Given the description of an element on the screen output the (x, y) to click on. 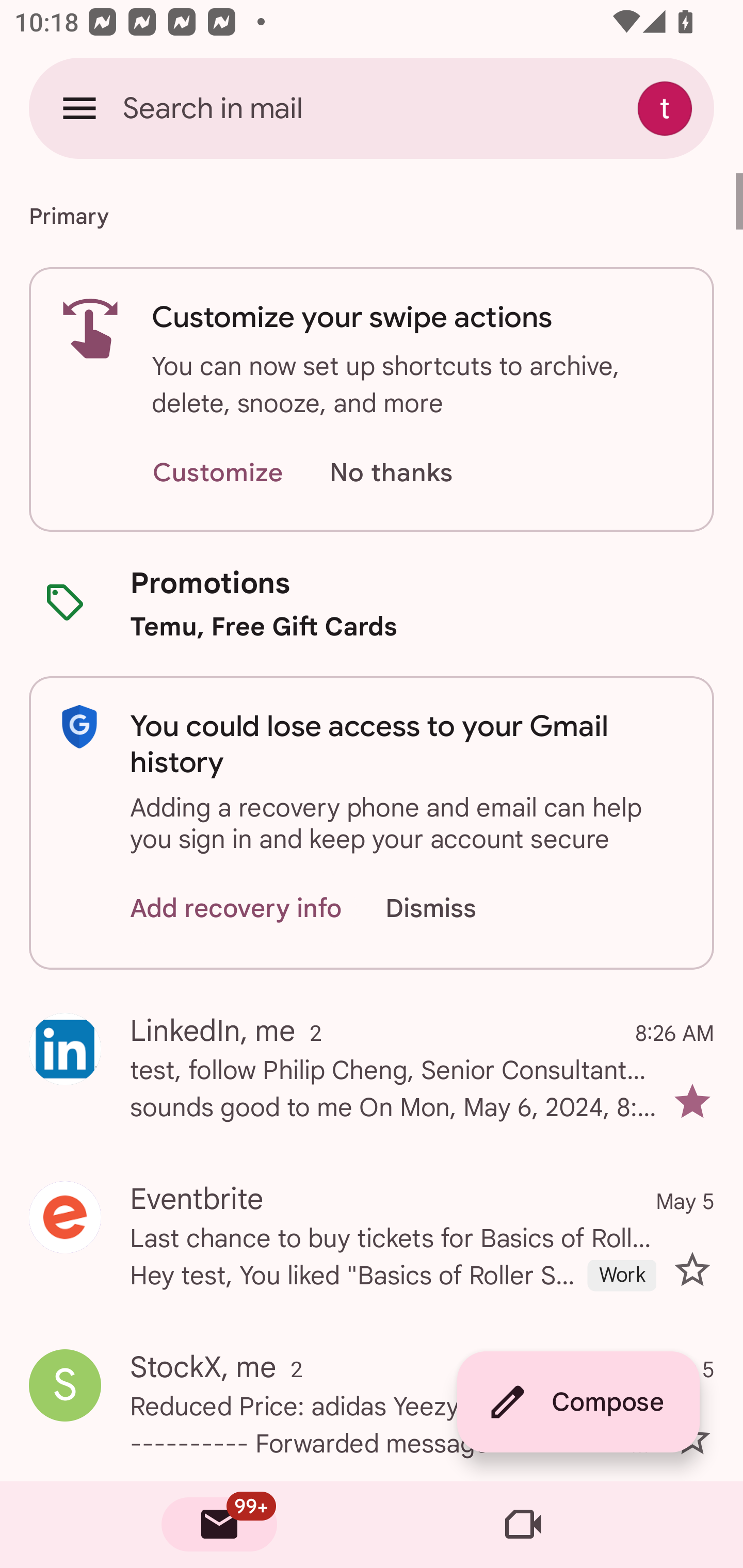
Open navigation drawer (79, 108)
Customize (217, 473)
No thanks (390, 473)
Promotions Temu, Free Gift Cards (371, 603)
Add recovery info (235, 908)
Dismiss (449, 908)
Compose (577, 1401)
Meet (523, 1524)
